Given the description of an element on the screen output the (x, y) to click on. 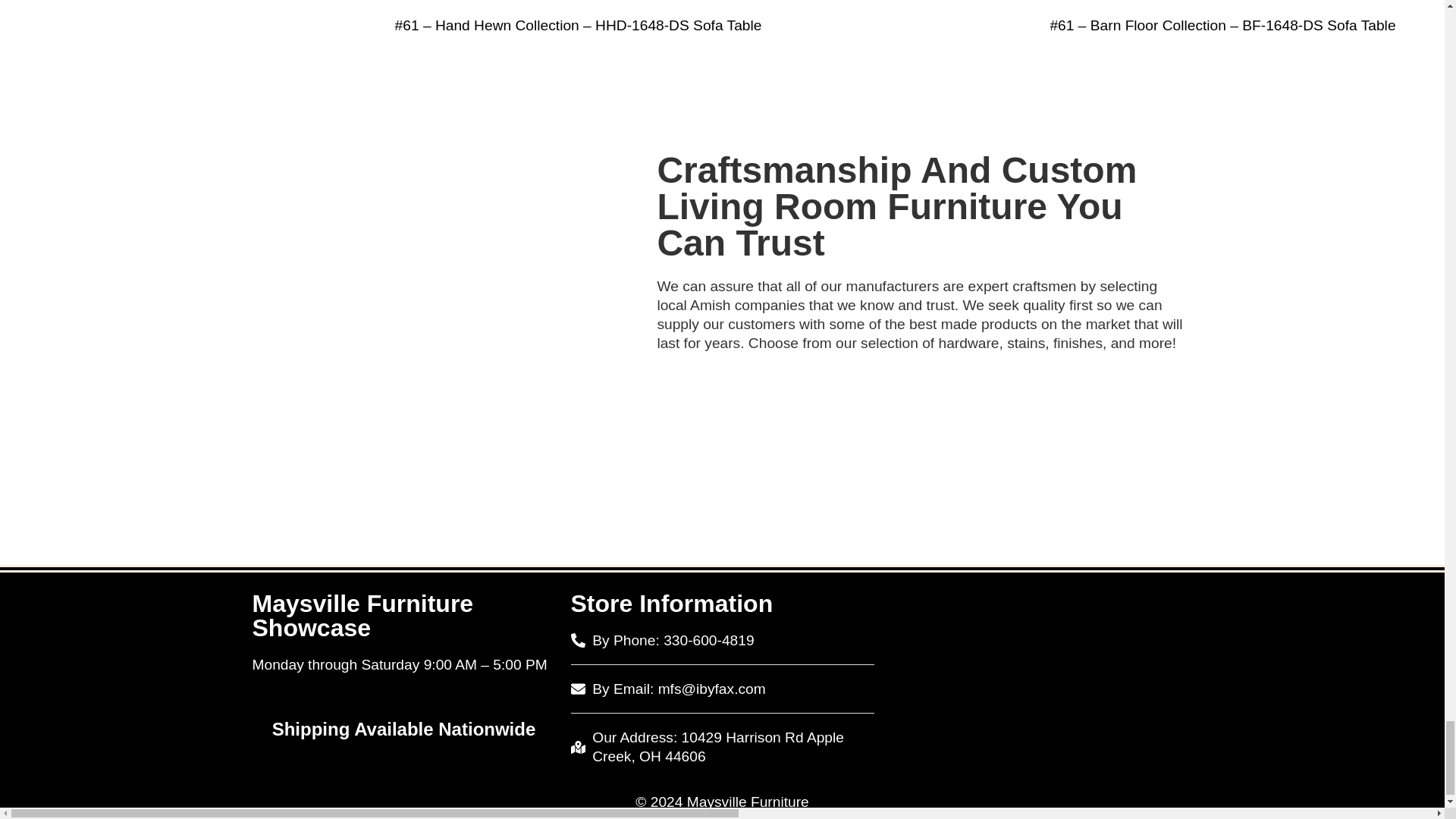
maysville furniture showcase (1040, 676)
